Given the description of an element on the screen output the (x, y) to click on. 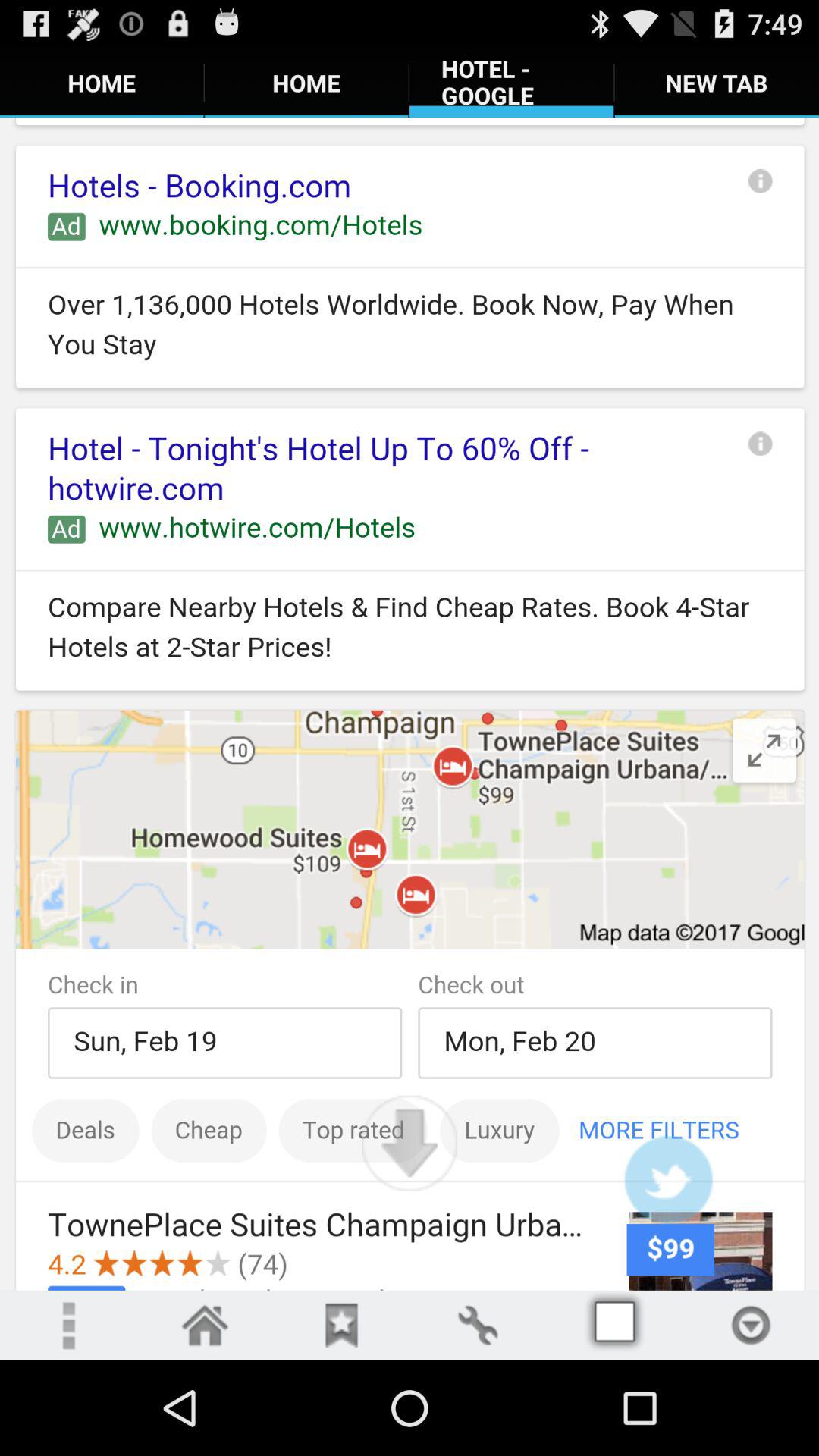
twitter button (668, 1179)
